Given the description of an element on the screen output the (x, y) to click on. 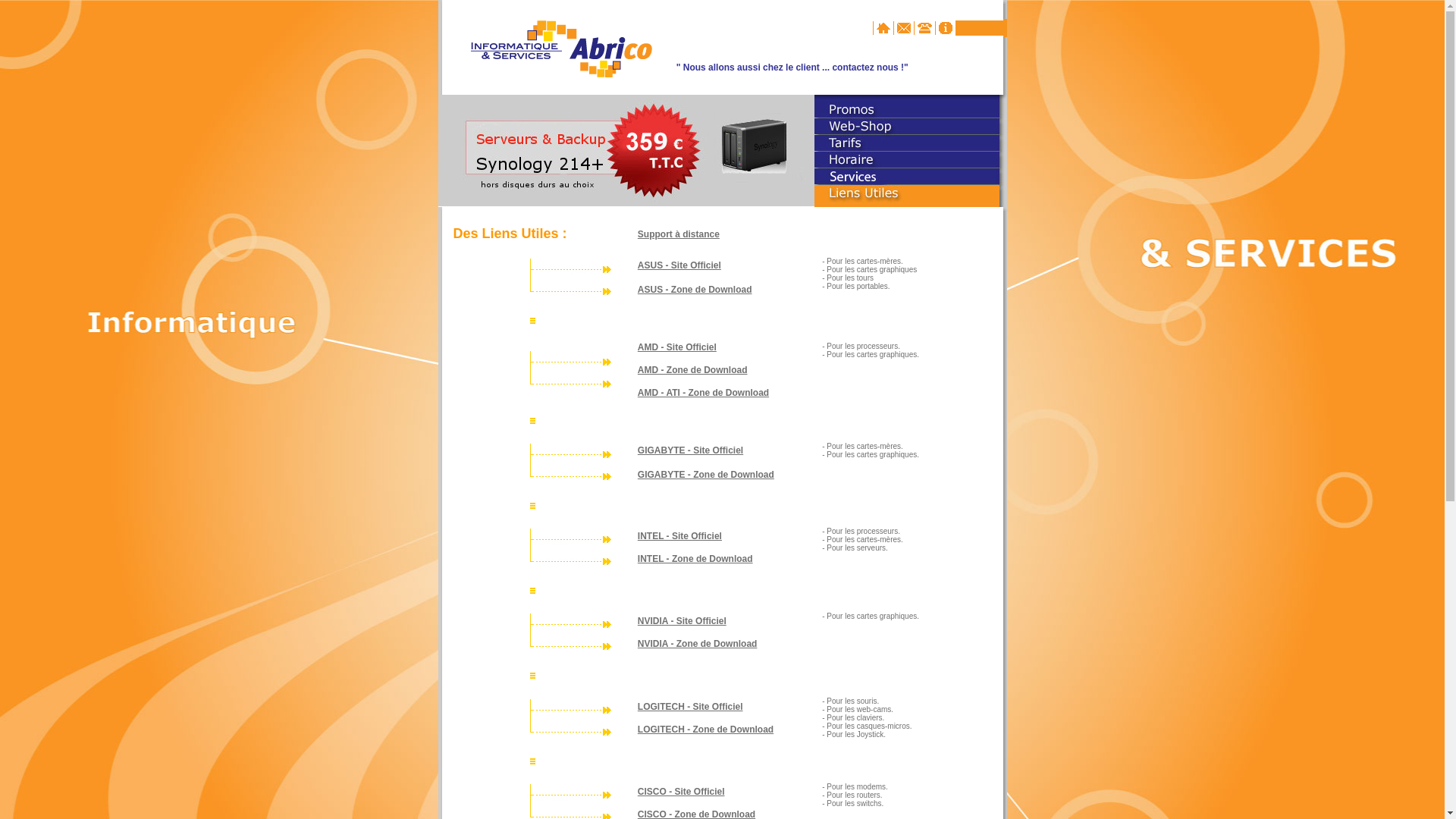
GIGABYTE - Zone de Download Element type: text (705, 474)
AMD - Zone de Download Element type: text (692, 369)
INTEL - Site Officiel Element type: text (679, 535)
NVIDIA - Site Officiel Element type: text (681, 620)
GIGABYTE - Site Officiel Element type: text (690, 450)
LOGITECH - Zone de Download Element type: text (705, 729)
INTEL - Zone de Download Element type: text (695, 558)
ASUS - Site Officiel Element type: text (679, 265)
NVIDIA - Zone de Download Element type: text (697, 643)
AMD - Site Officiel Element type: text (676, 347)
LOGITECH - Site Officiel Element type: text (690, 706)
AMD - ATI - Zone de Download Element type: text (702, 392)
ASUS - Zone de Download Element type: text (694, 289)
CISCO - Site Officiel Element type: text (680, 791)
